Given the description of an element on the screen output the (x, y) to click on. 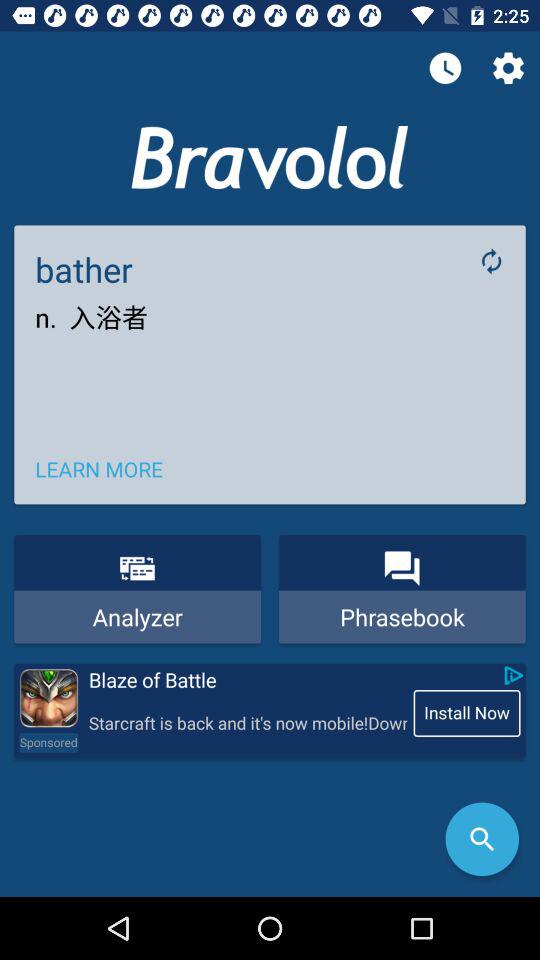
select the starcraft is back (247, 723)
